Given the description of an element on the screen output the (x, y) to click on. 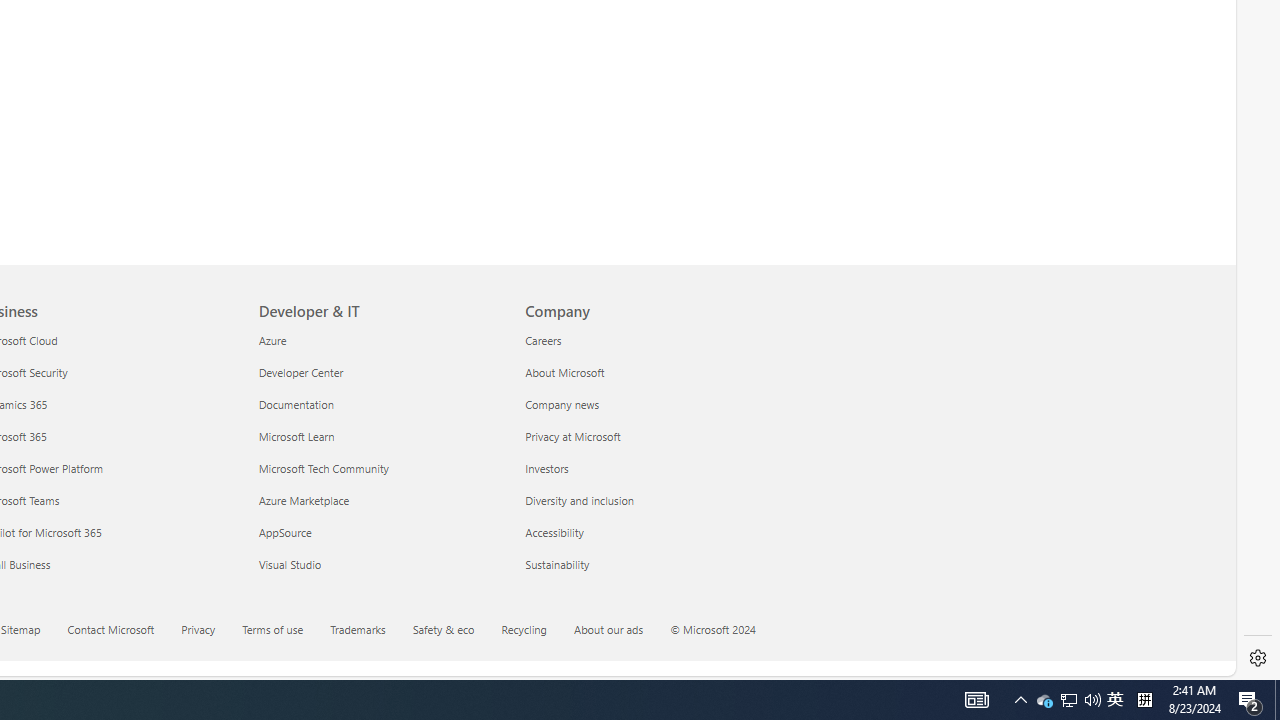
Investors (646, 468)
Recycling (536, 631)
Terms of use (272, 628)
Privacy (210, 631)
Safety & eco (443, 628)
Contact Microsoft (122, 631)
About our ads (620, 631)
Accessibility Company (553, 532)
Visual Studio (379, 564)
Accessibility (646, 532)
Careers Company (542, 339)
Company news Company (562, 403)
Sustainability Company (557, 563)
Microsoft Tech Community Developer & IT (323, 467)
